Given the description of an element on the screen output the (x, y) to click on. 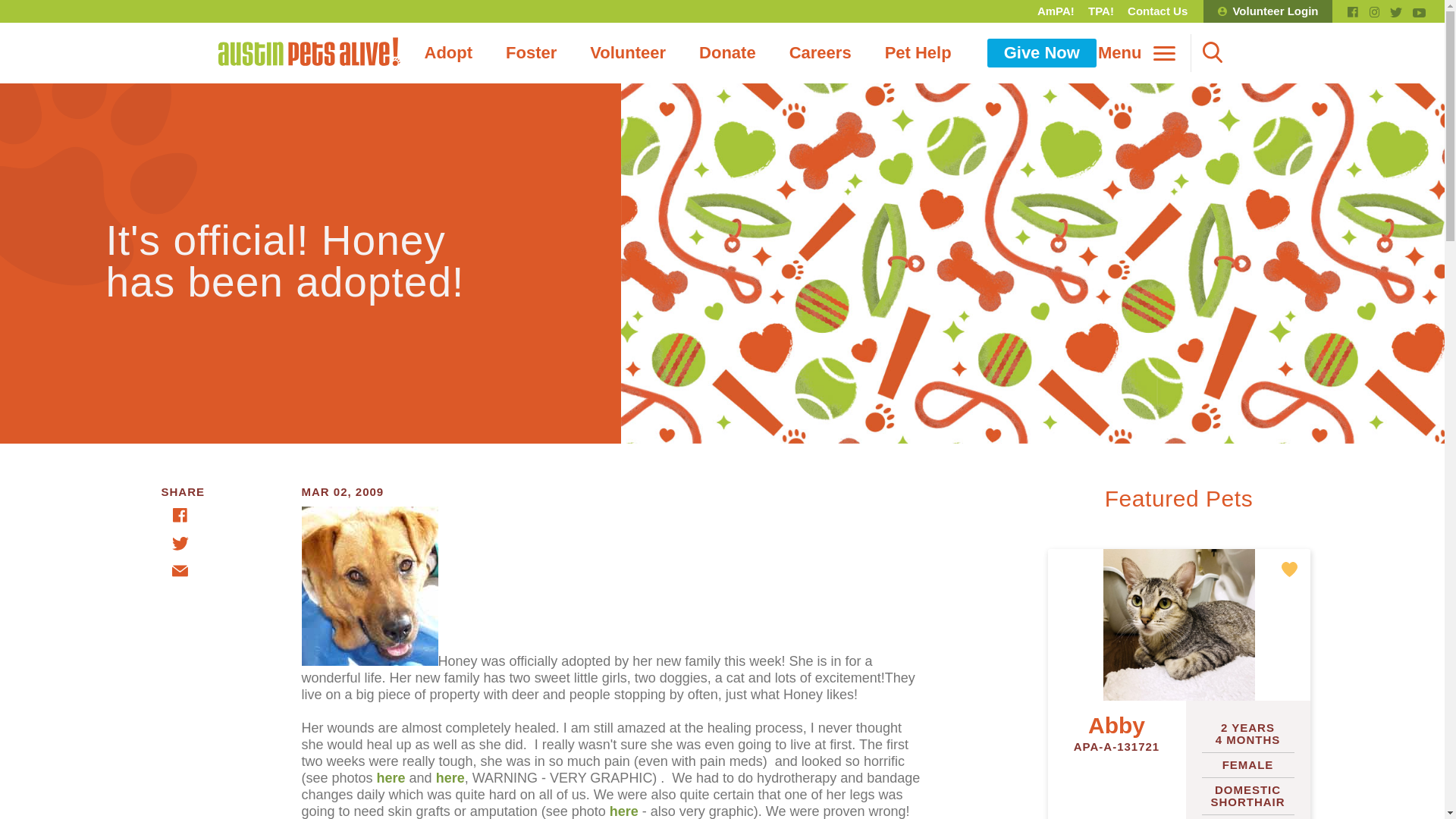
AmPA! (1056, 11)
Adopt (448, 52)
Volunteer (627, 52)
Pet Help (917, 52)
Contact Us (1157, 11)
Volunteer Login (1268, 11)
Foster (531, 52)
TPA! (1101, 11)
Careers (820, 52)
Donate (727, 52)
